Given the description of an element on the screen output the (x, y) to click on. 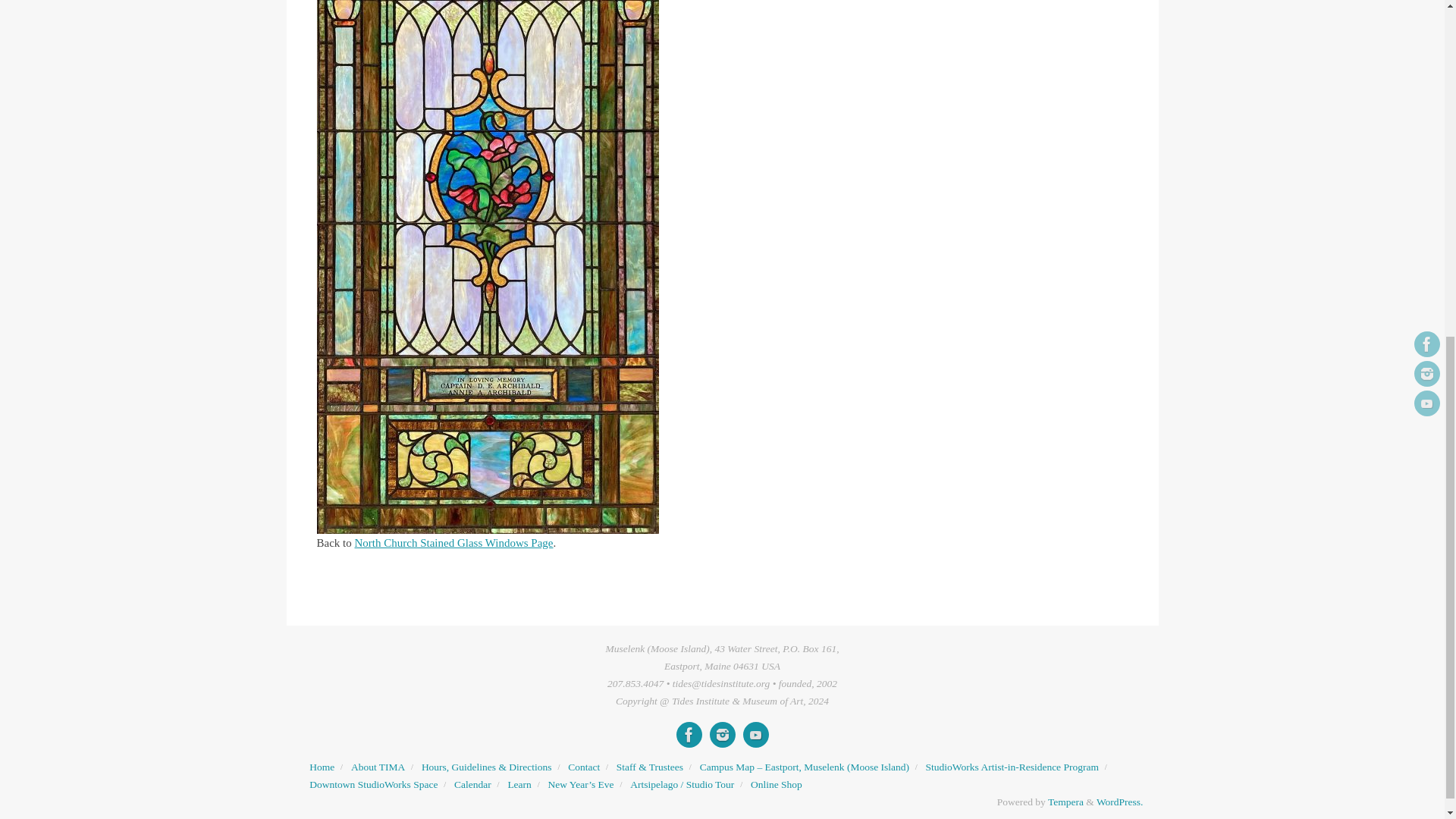
YouTube (755, 734)
Instagram (722, 734)
Facebook (689, 734)
Tempera Theme by Cryout Creations (1065, 801)
StudioWorks Facility (373, 784)
Semantic Personal Publishing Platform (1119, 801)
